Given the description of an element on the screen output the (x, y) to click on. 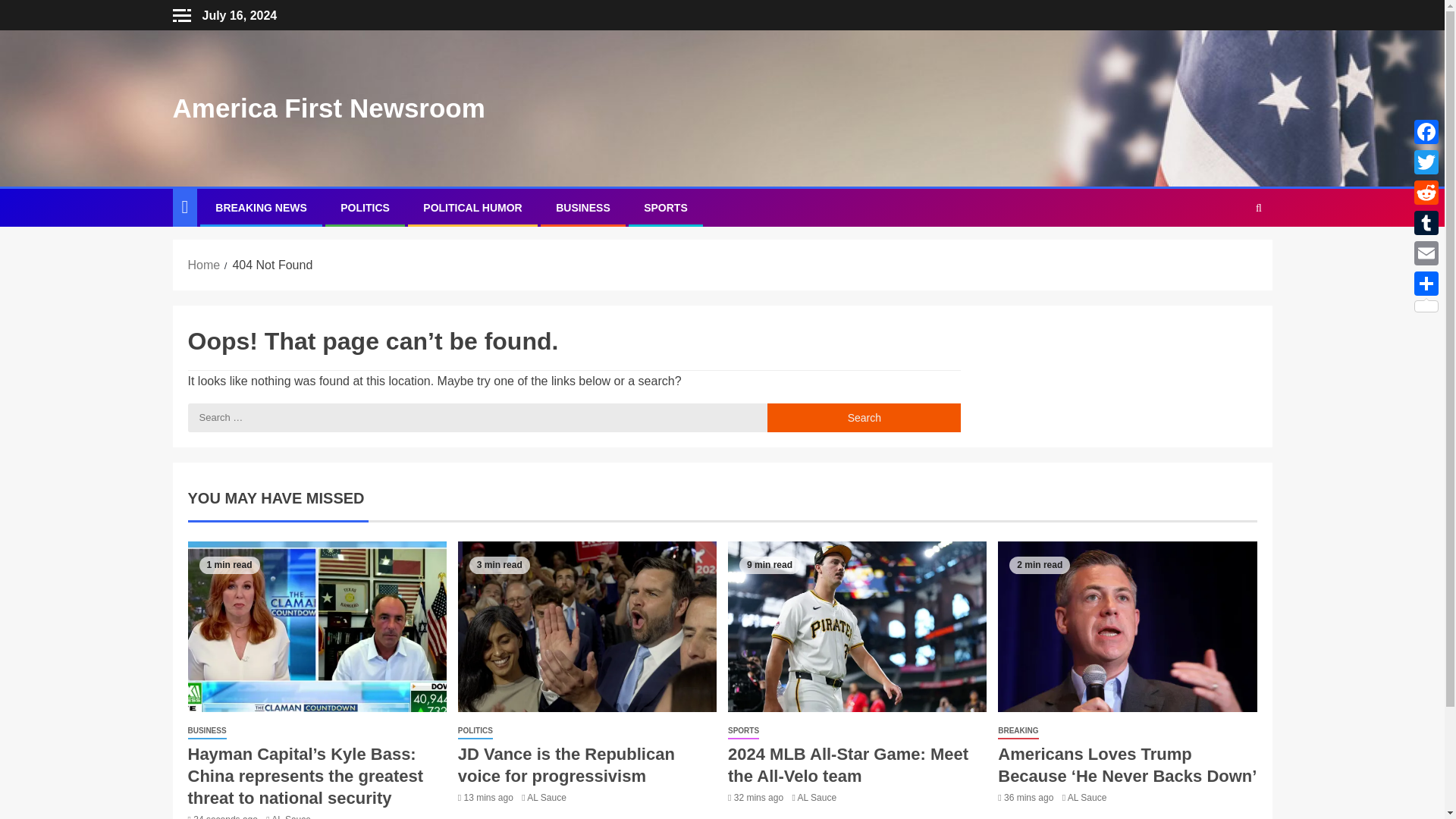
POLITICS (365, 207)
Reddit (1425, 192)
Twitter (1425, 162)
2024 MLB All-Star Game: Meet the All-Velo team (848, 764)
SPORTS (665, 207)
AL Sauce (546, 797)
Twitter (1425, 162)
BREAKING (1017, 731)
BUSINESS (207, 731)
Search (863, 417)
POLITICS (475, 731)
POLITICAL HUMOR (472, 207)
Reddit (1425, 192)
AL Sauce (290, 816)
SPORTS (743, 731)
